Given the description of an element on the screen output the (x, y) to click on. 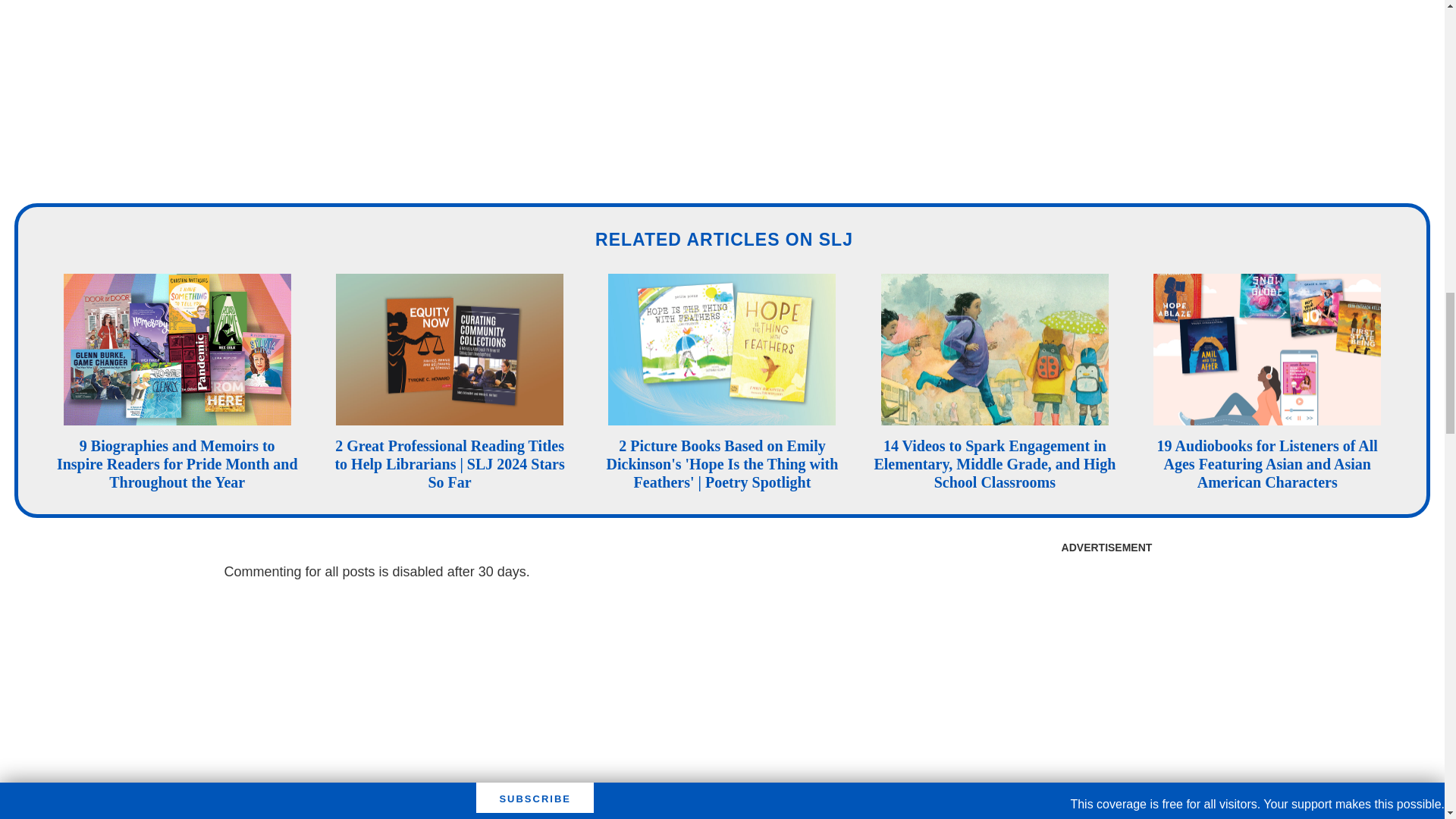
3rd party ad content (1106, 90)
3rd party ad content (1106, 656)
